Given the description of an element on the screen output the (x, y) to click on. 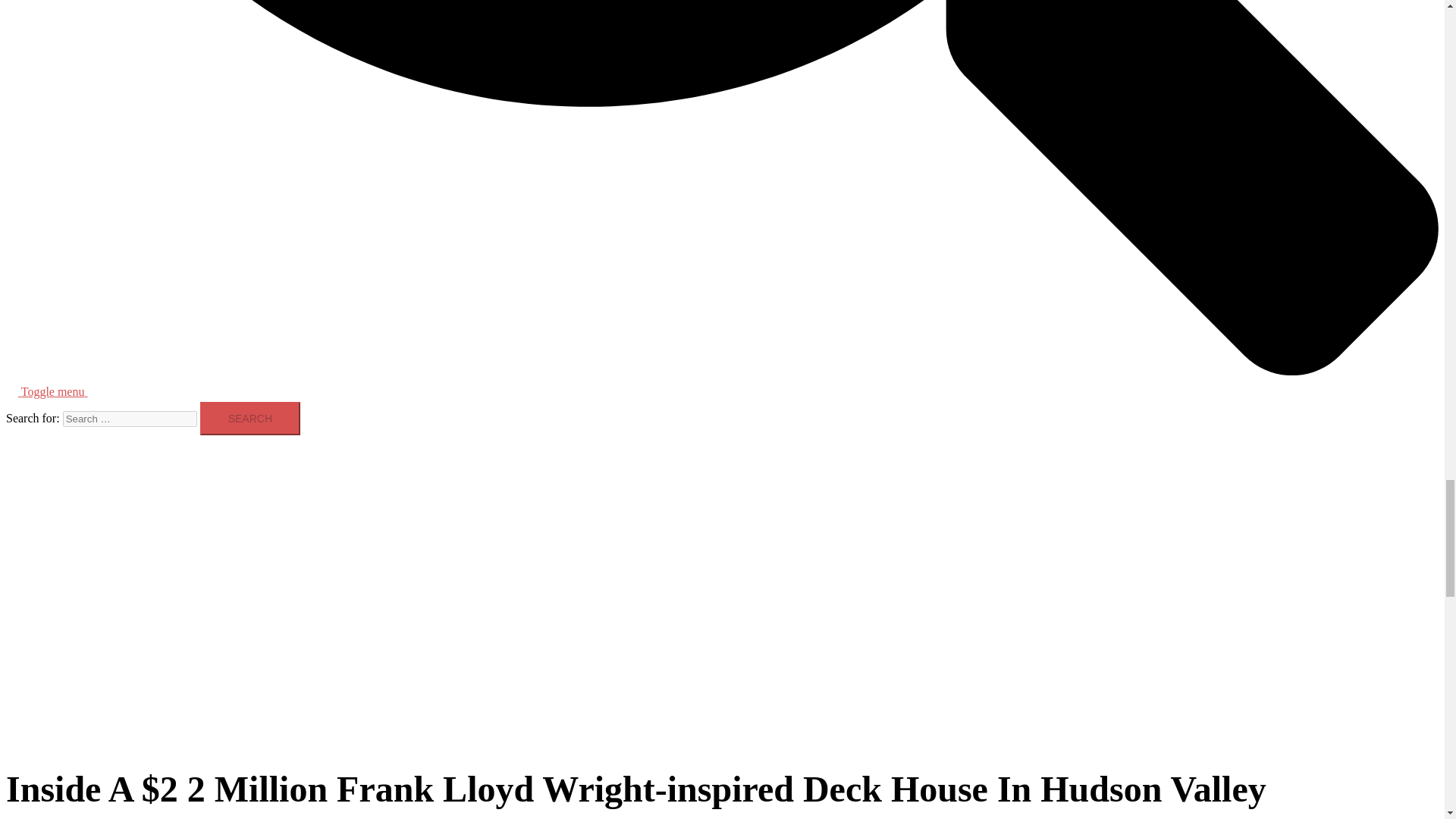
Toggle menu (60, 391)
Search (249, 418)
Search (249, 418)
Search (249, 418)
